Given the description of an element on the screen output the (x, y) to click on. 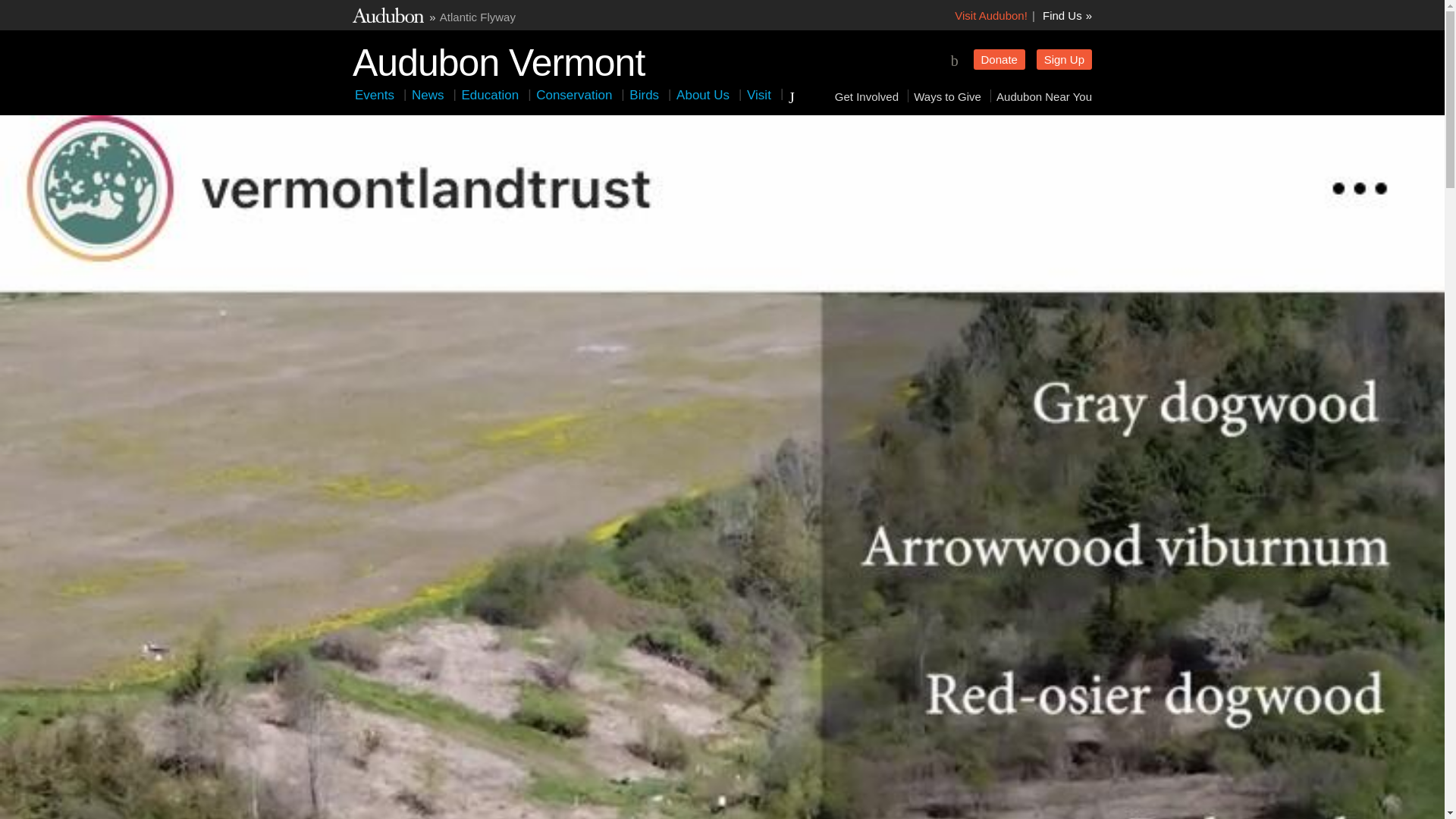
About Us (702, 95)
Events (374, 95)
Sign Up (1064, 59)
Birds (643, 95)
Find Us (1067, 15)
Atlantic Flyway (477, 16)
Donate (999, 59)
Education (490, 95)
Audubon Vermont (498, 59)
Visit (758, 95)
News (427, 95)
Conservation (574, 95)
